Given the description of an element on the screen output the (x, y) to click on. 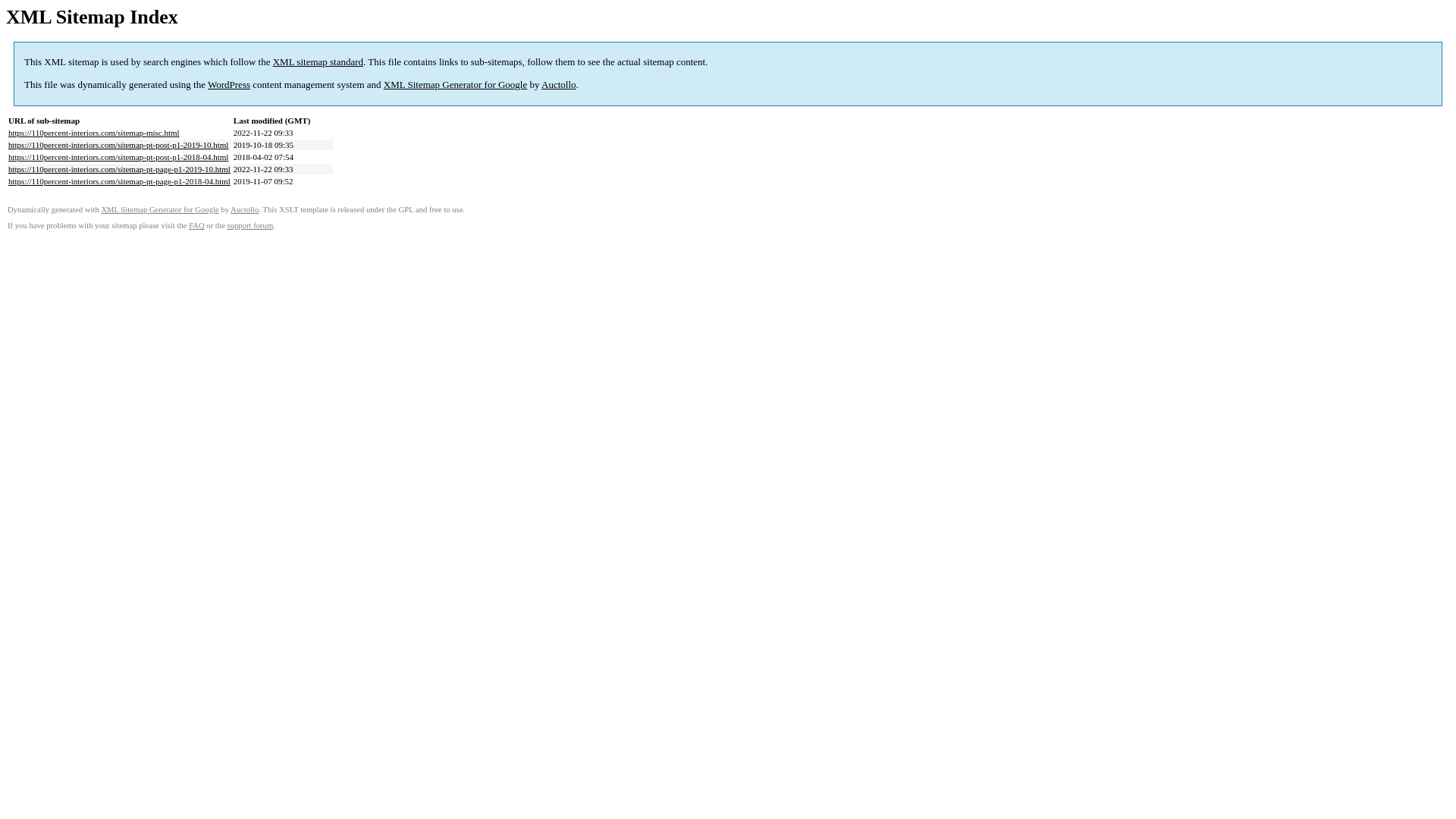
https://110percent-interiors.com/sitemap-misc.html Element type: text (93, 132)
support forum Element type: text (250, 225)
XML Sitemap Generator for Google Element type: text (455, 84)
XML Sitemap Generator for Google Element type: text (159, 209)
FAQ Element type: text (196, 225)
Auctollo Element type: text (558, 84)
Auctollo Element type: text (244, 209)
WordPress Element type: text (228, 84)
XML sitemap standard Element type: text (318, 61)
